Given the description of an element on the screen output the (x, y) to click on. 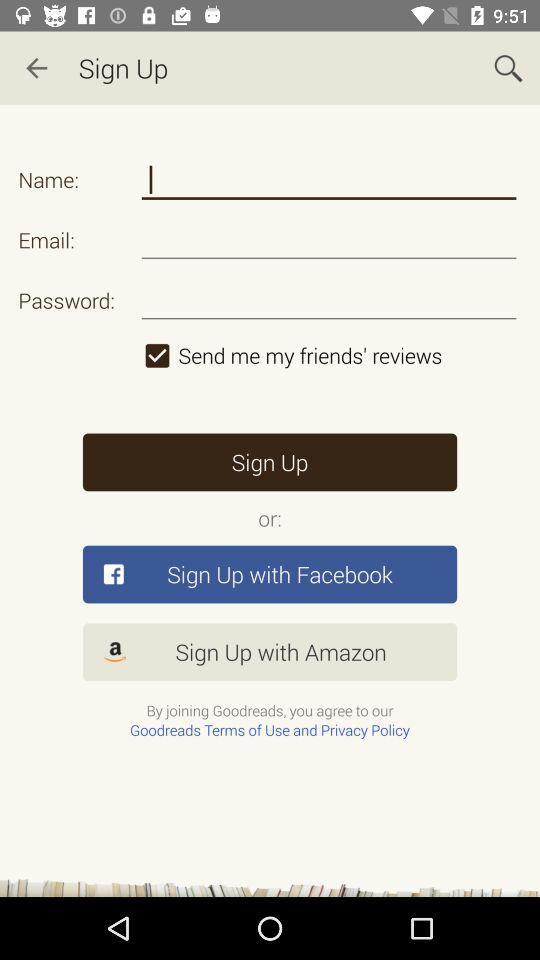
launch item to the right of the sign up app (508, 67)
